Given the description of an element on the screen output the (x, y) to click on. 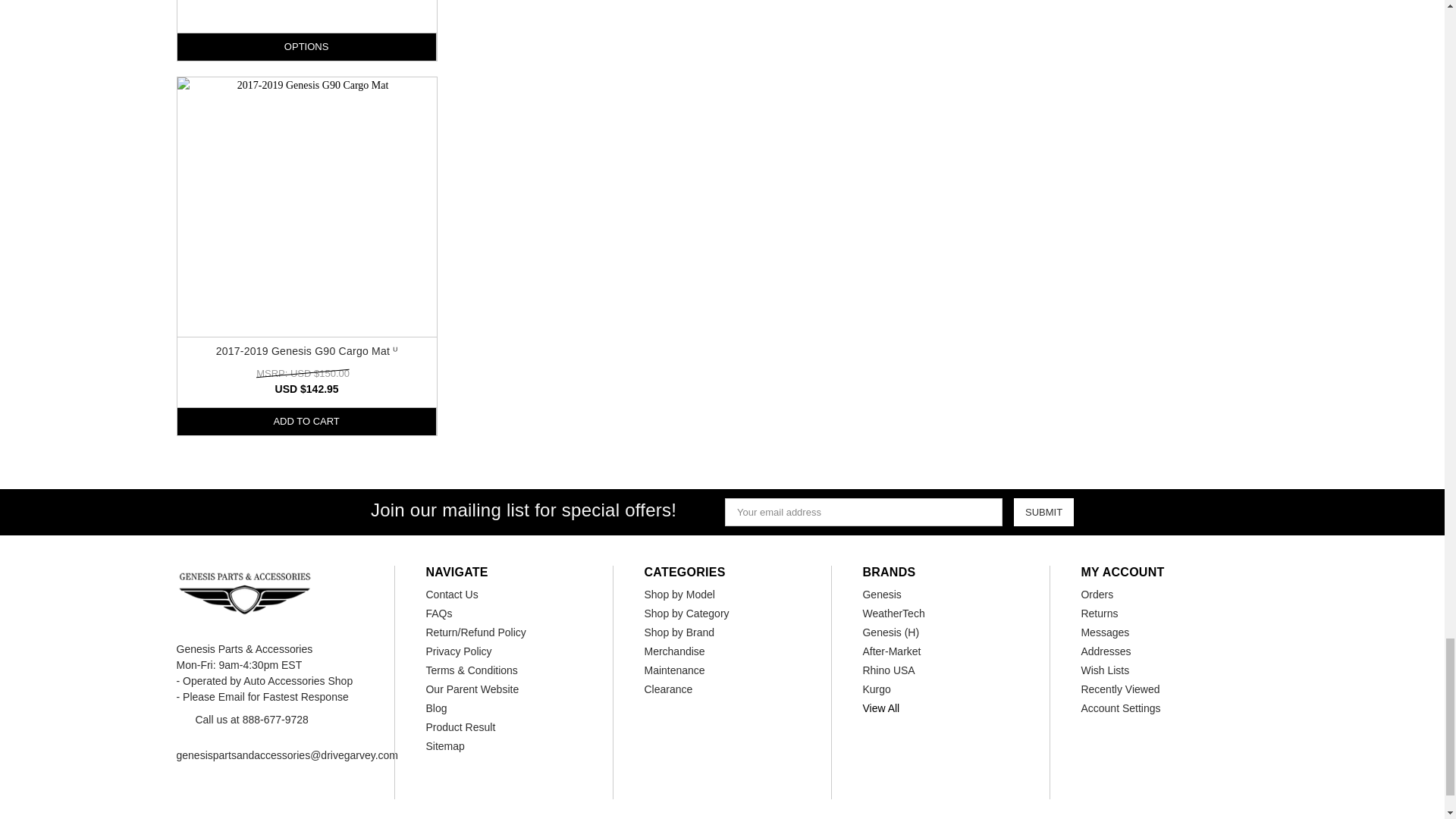
Submit (1043, 511)
